Given the description of an element on the screen output the (x, y) to click on. 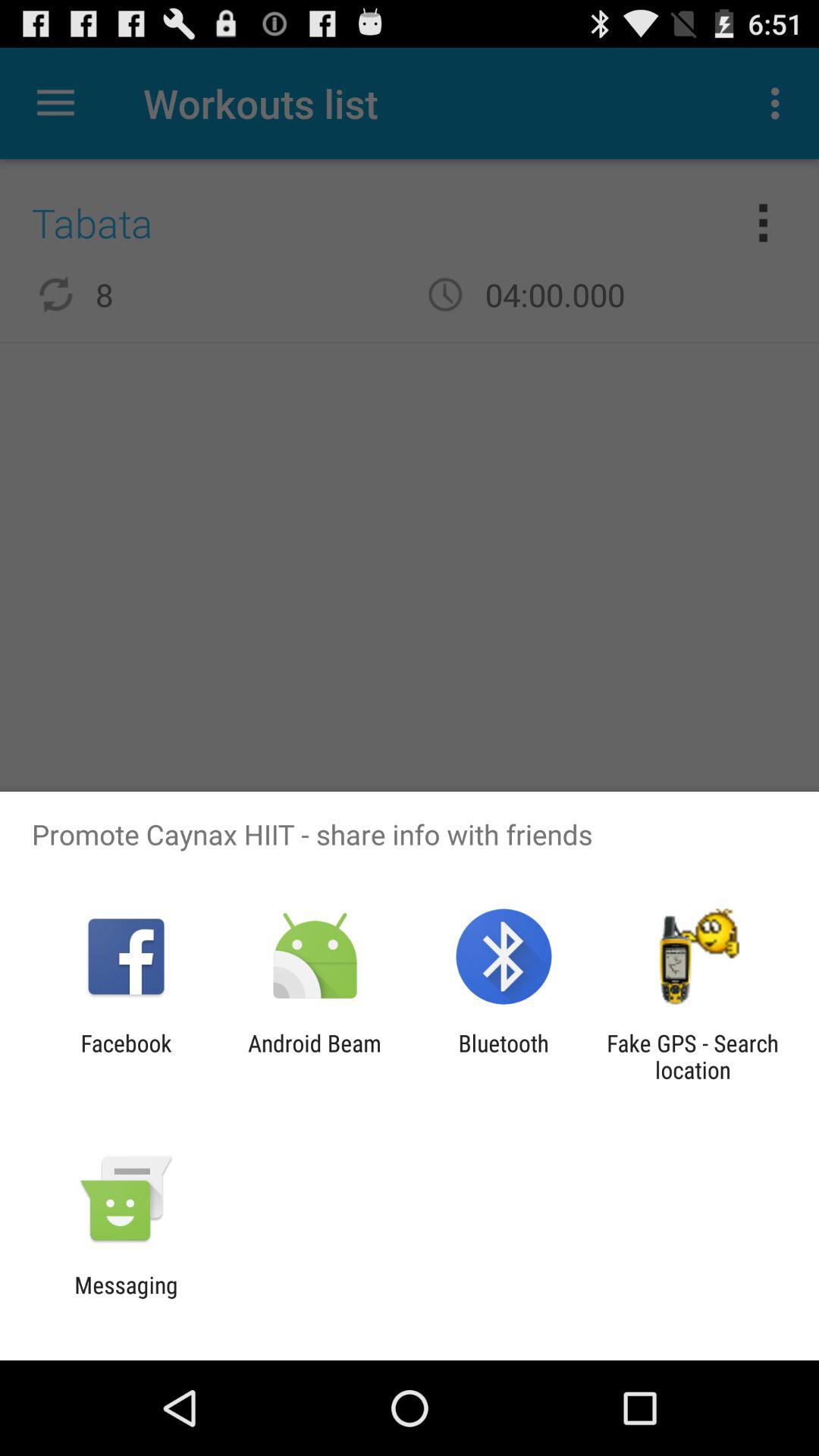
jump to fake gps search app (692, 1056)
